Given the description of an element on the screen output the (x, y) to click on. 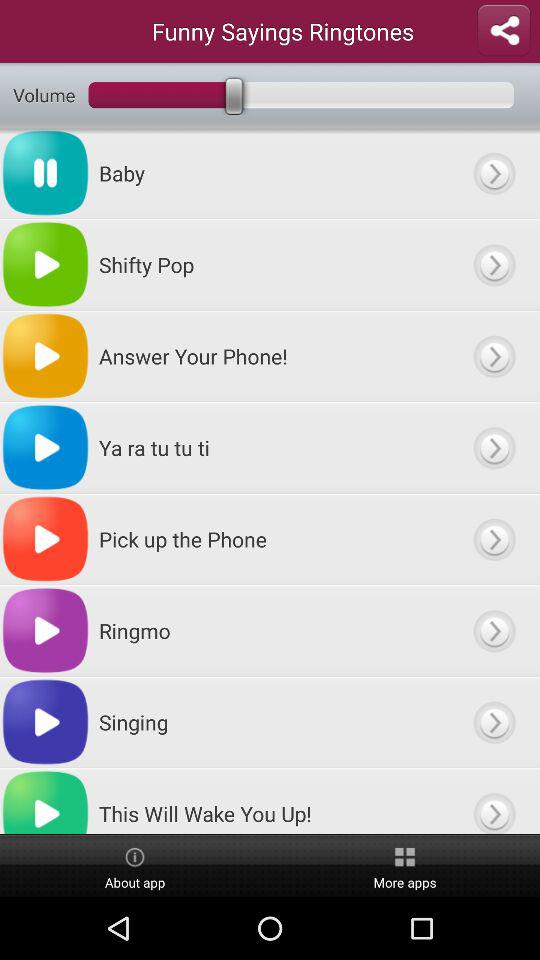
open alarm sound (494, 801)
